Given the description of an element on the screen output the (x, y) to click on. 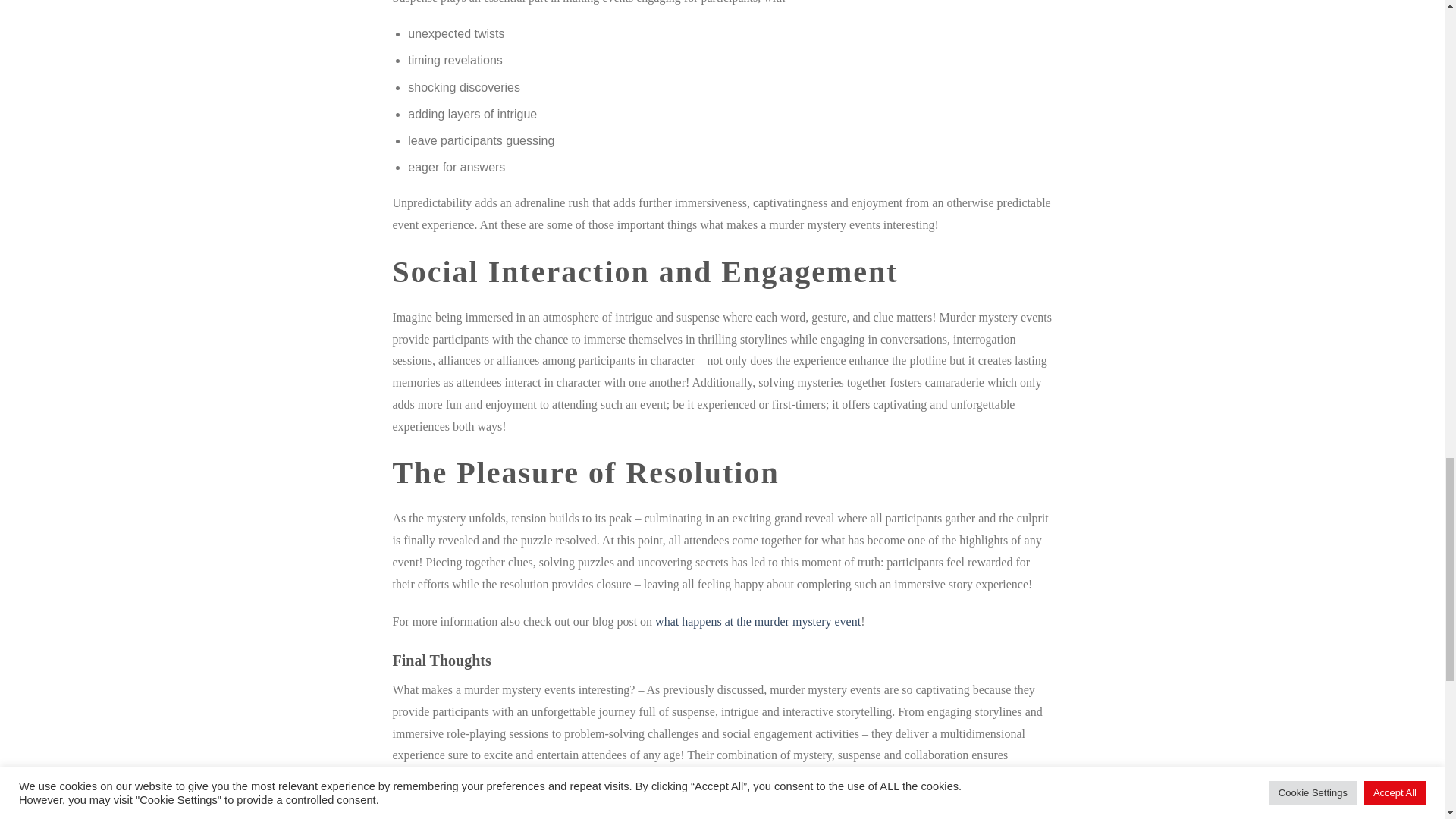
what happens at the murder mystery event (757, 621)
